Given the description of an element on the screen output the (x, y) to click on. 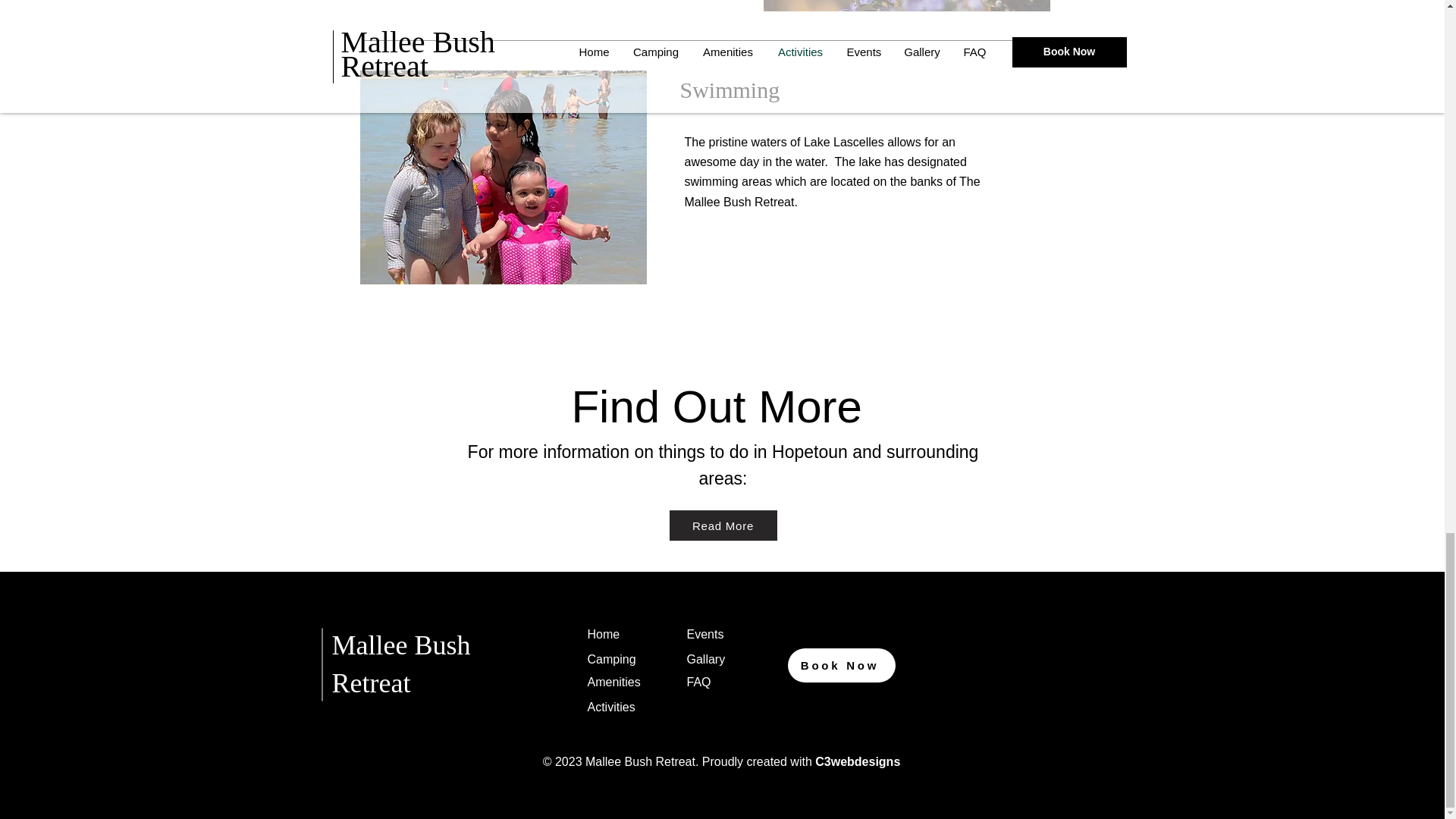
Home (603, 634)
C3webdesigns (857, 761)
Gallary (706, 658)
Activities (610, 707)
Amenities (613, 681)
Camping (610, 658)
Book Now (841, 665)
Mallee Bush Retreat (400, 663)
FAQ (699, 681)
Read More (722, 525)
Events (705, 634)
